Given the description of an element on the screen output the (x, y) to click on. 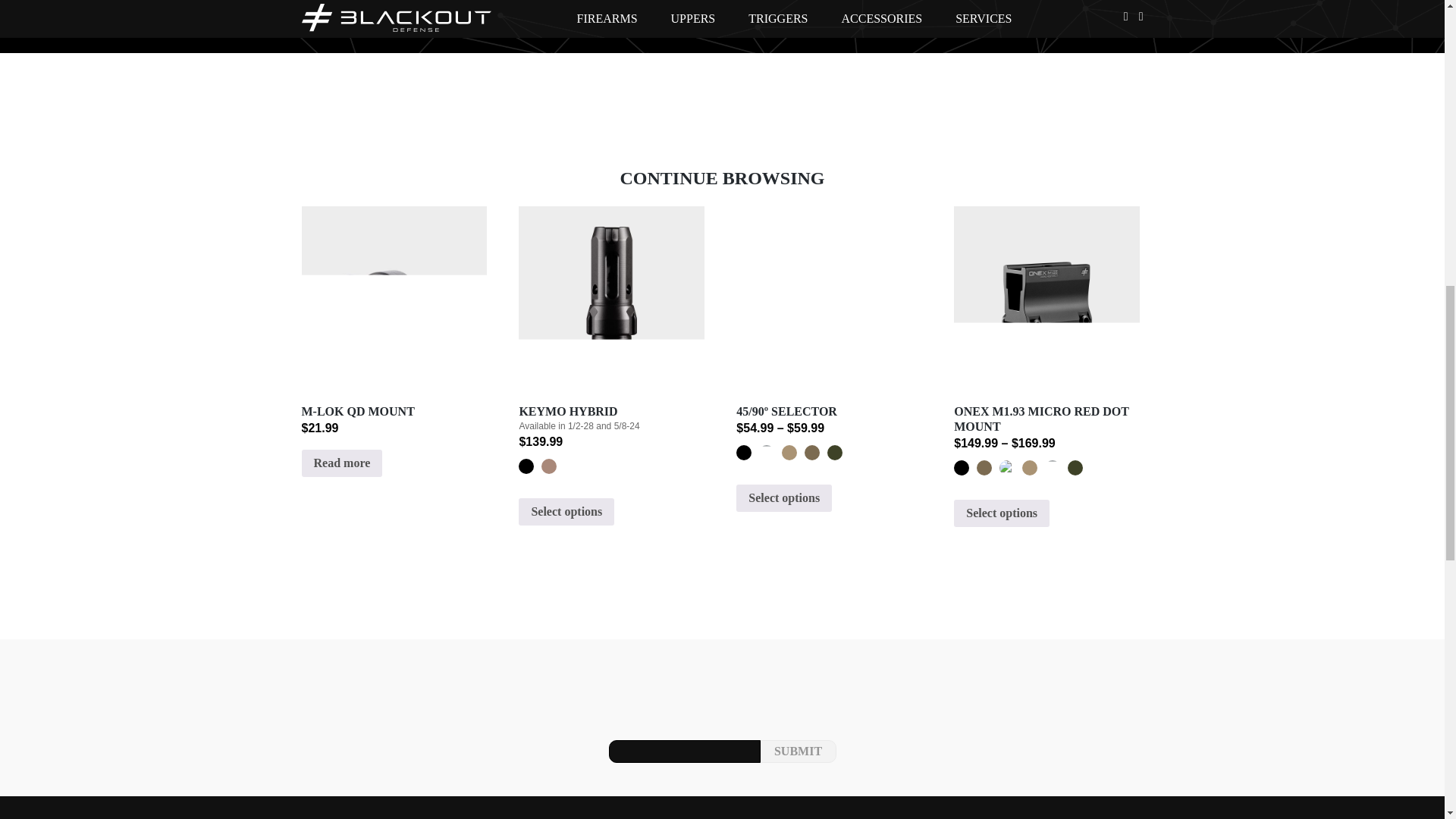
H900 (548, 466)
Black Nitride (526, 466)
Select options (566, 511)
Select options (783, 497)
Select options (1001, 513)
Black (743, 452)
SUBMIT (797, 751)
Grey (766, 452)
Read more (341, 462)
